Given the description of an element on the screen output the (x, y) to click on. 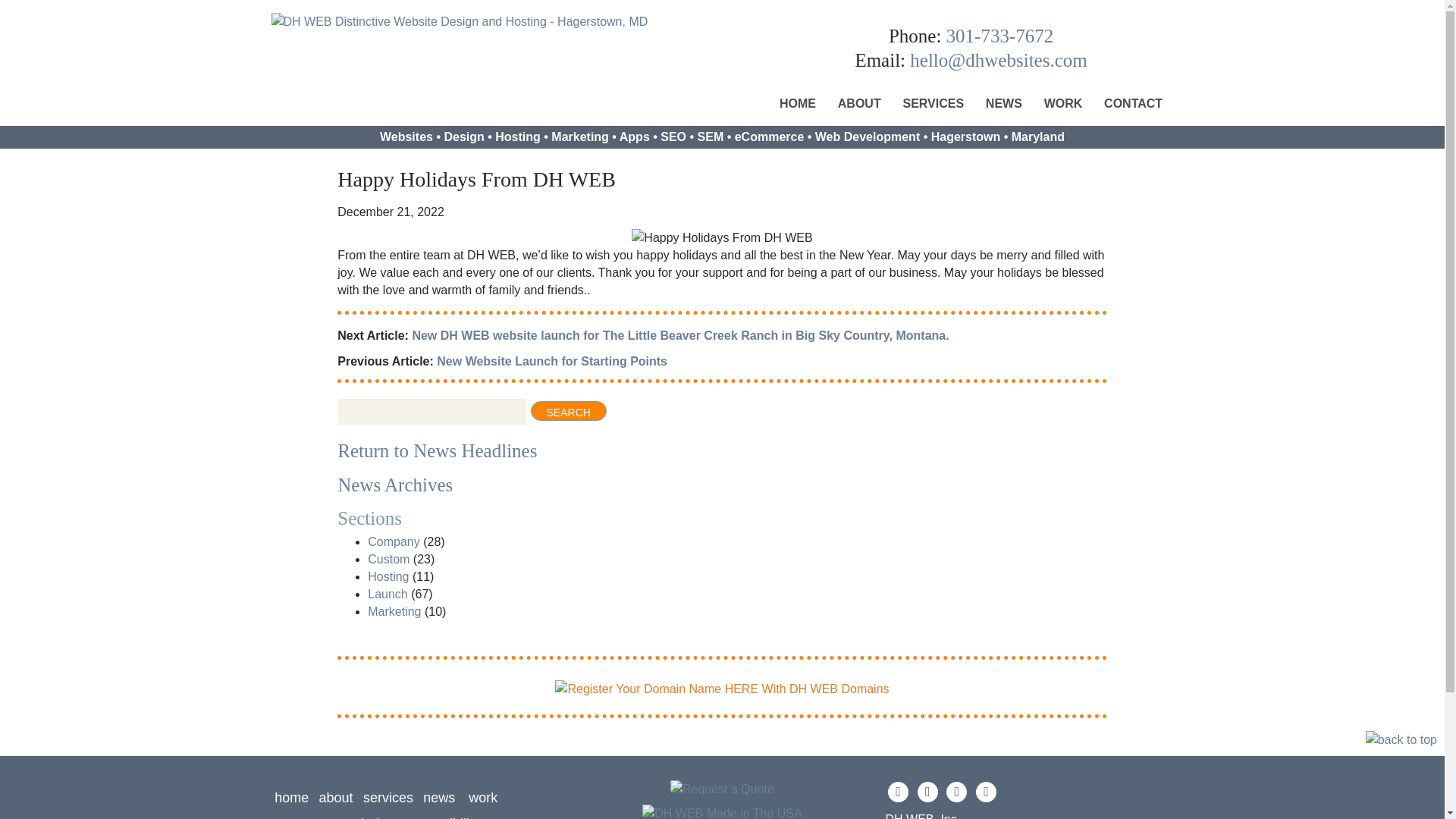
accessibility (443, 817)
301-733-7672 (1000, 35)
home (291, 797)
Marketing (394, 611)
Instagram Link (956, 792)
DH WEB Domains (721, 687)
NEWS (1002, 101)
dhwebsites.com (998, 59)
services (387, 797)
